Given the description of an element on the screen output the (x, y) to click on. 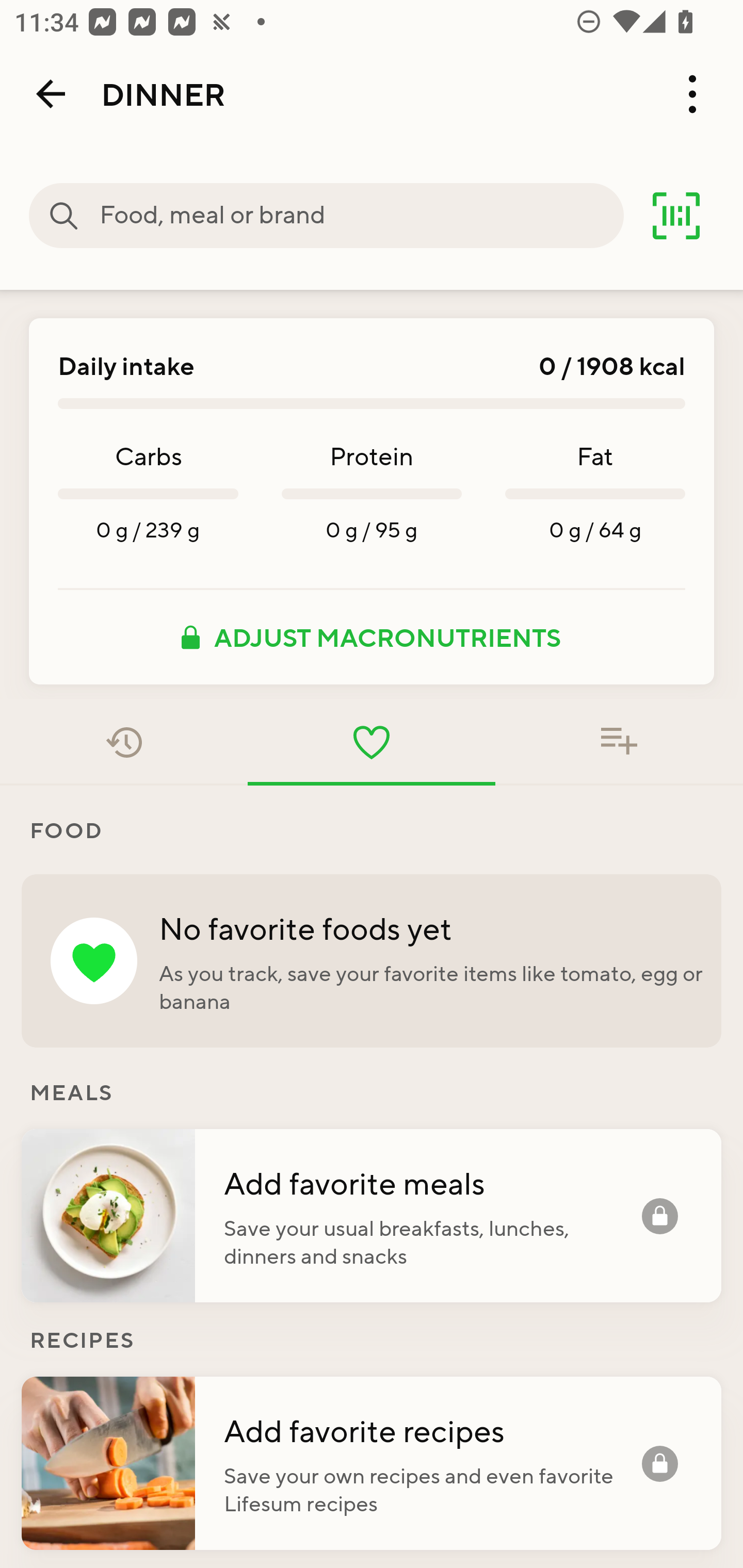
Back (50, 93)
Food, meal or brand (63, 215)
Food, meal or brand (361, 215)
ADJUST MACRONUTRIENTS (371, 637)
Recent (123, 742)
Food added (619, 742)
Add favorite meals (432, 1182)
Add favorite recipes (432, 1429)
